Given the description of an element on the screen output the (x, y) to click on. 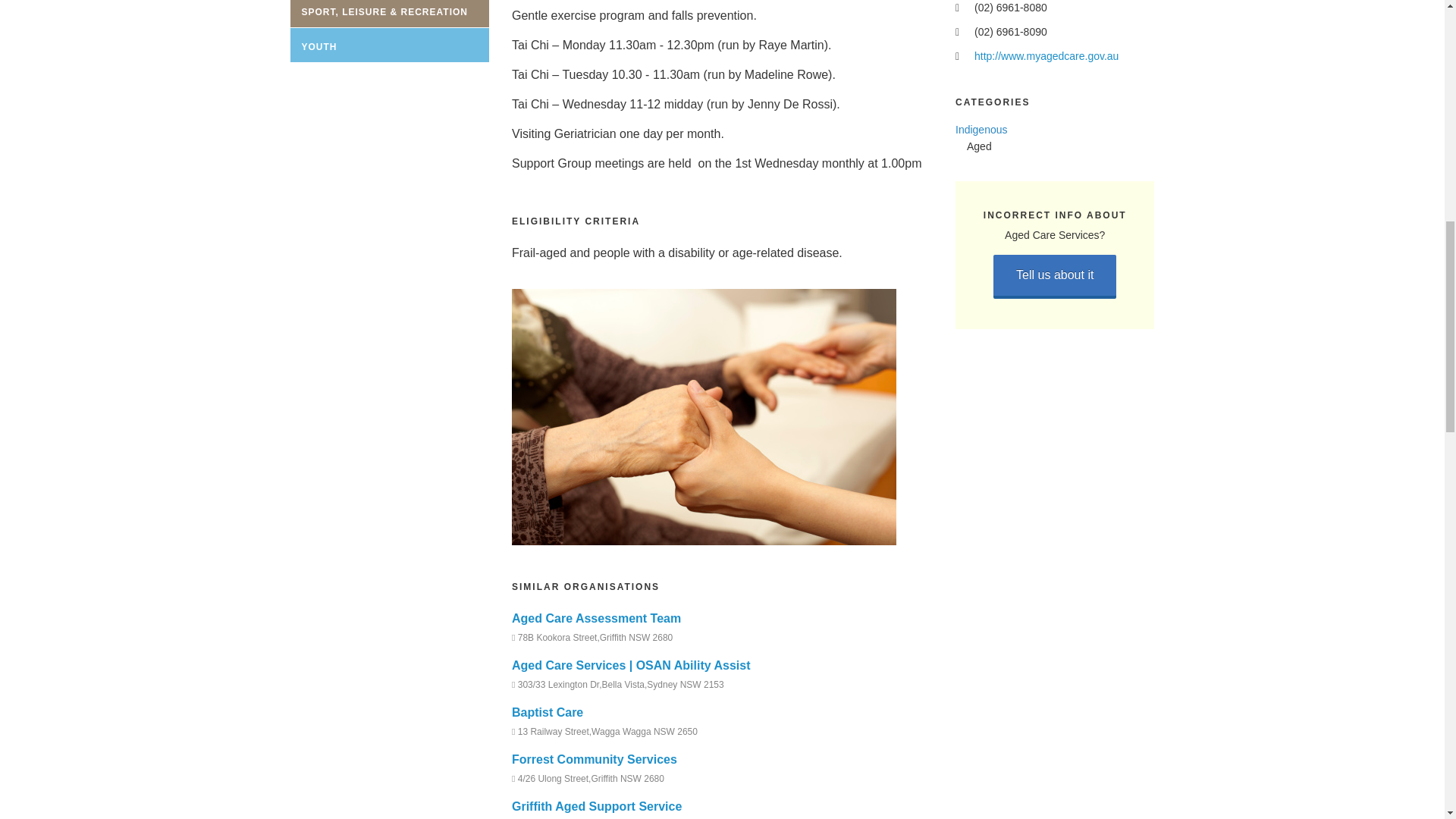
Phone (960, 8)
website (960, 56)
Fax (960, 32)
